Given the description of an element on the screen output the (x, y) to click on. 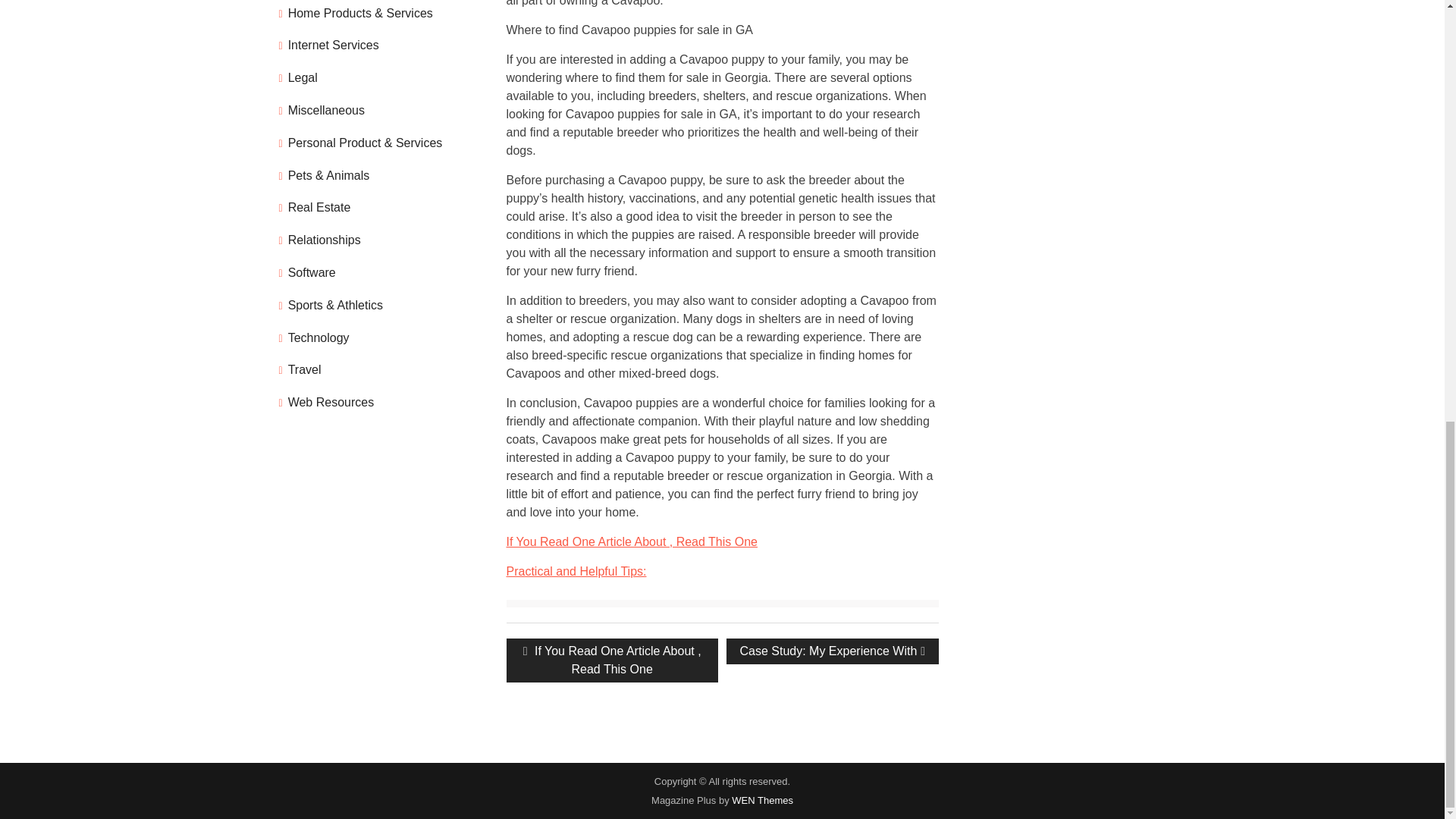
Practical and Helpful Tips: (576, 571)
If You Read One Article About , Read This One (831, 651)
